Given the description of an element on the screen output the (x, y) to click on. 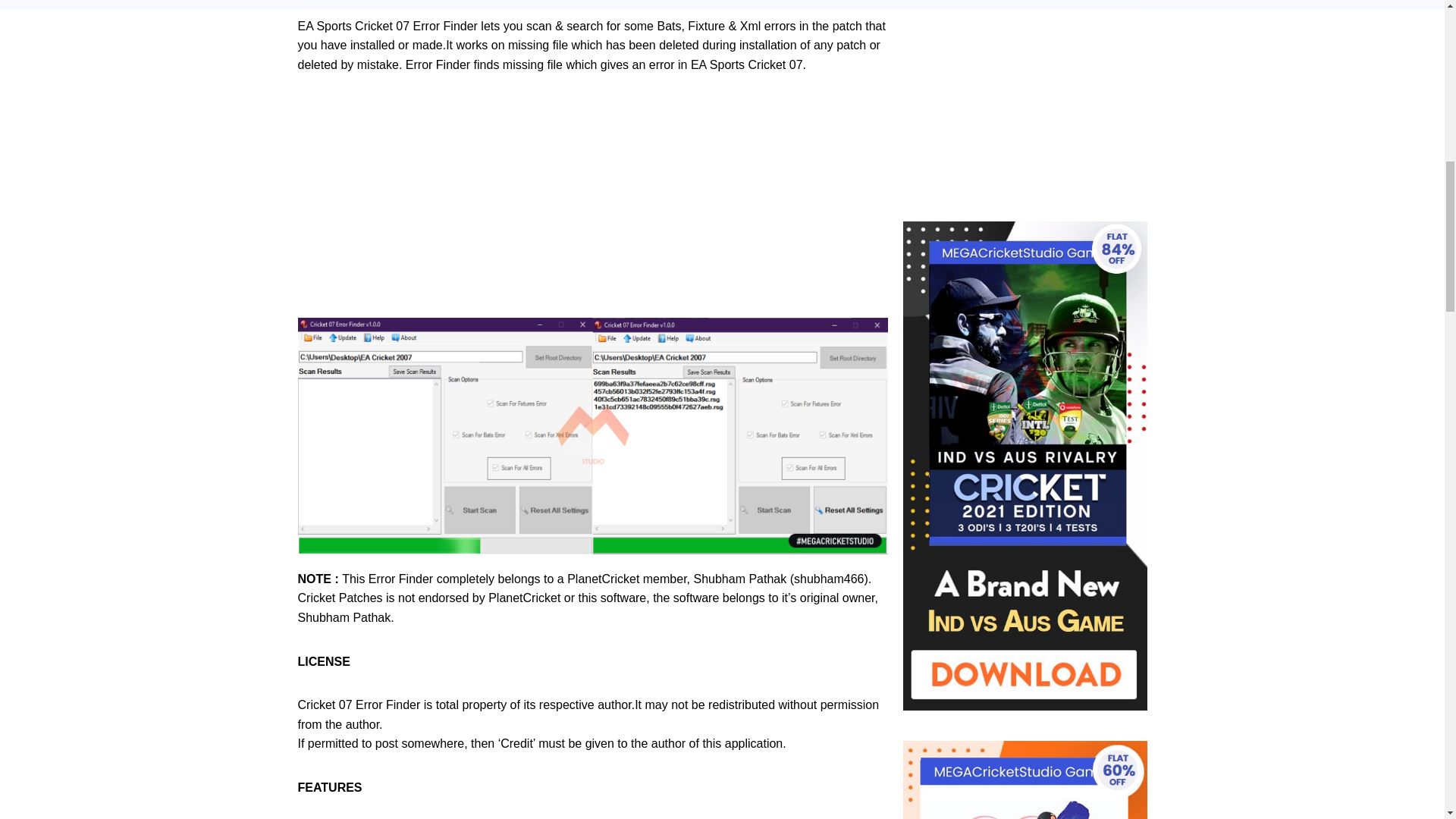
Advertisement (591, 196)
Advertisement (1024, 111)
